Given the description of an element on the screen output the (x, y) to click on. 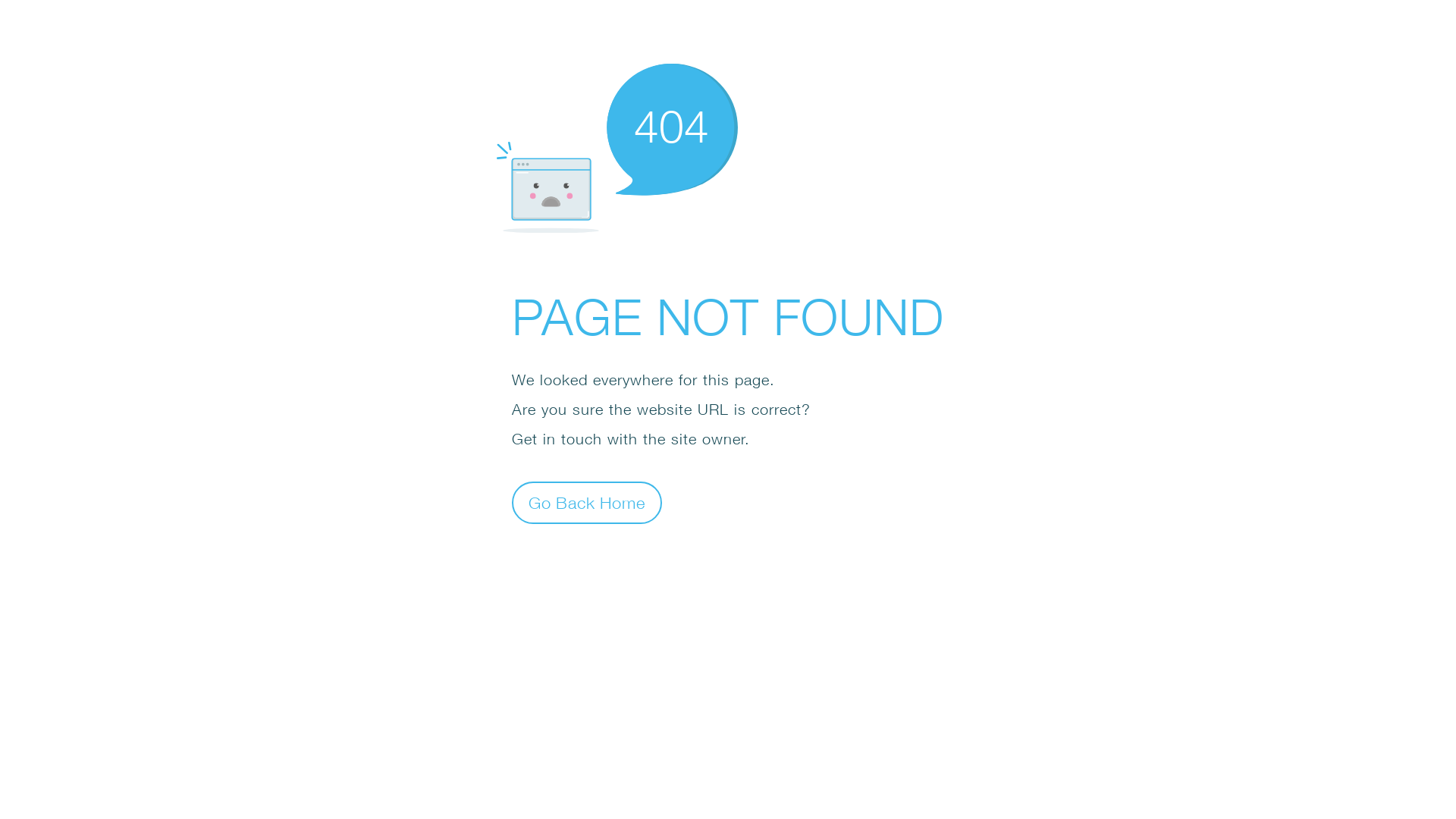
Go Back Home Element type: text (586, 502)
